Given the description of an element on the screen output the (x, y) to click on. 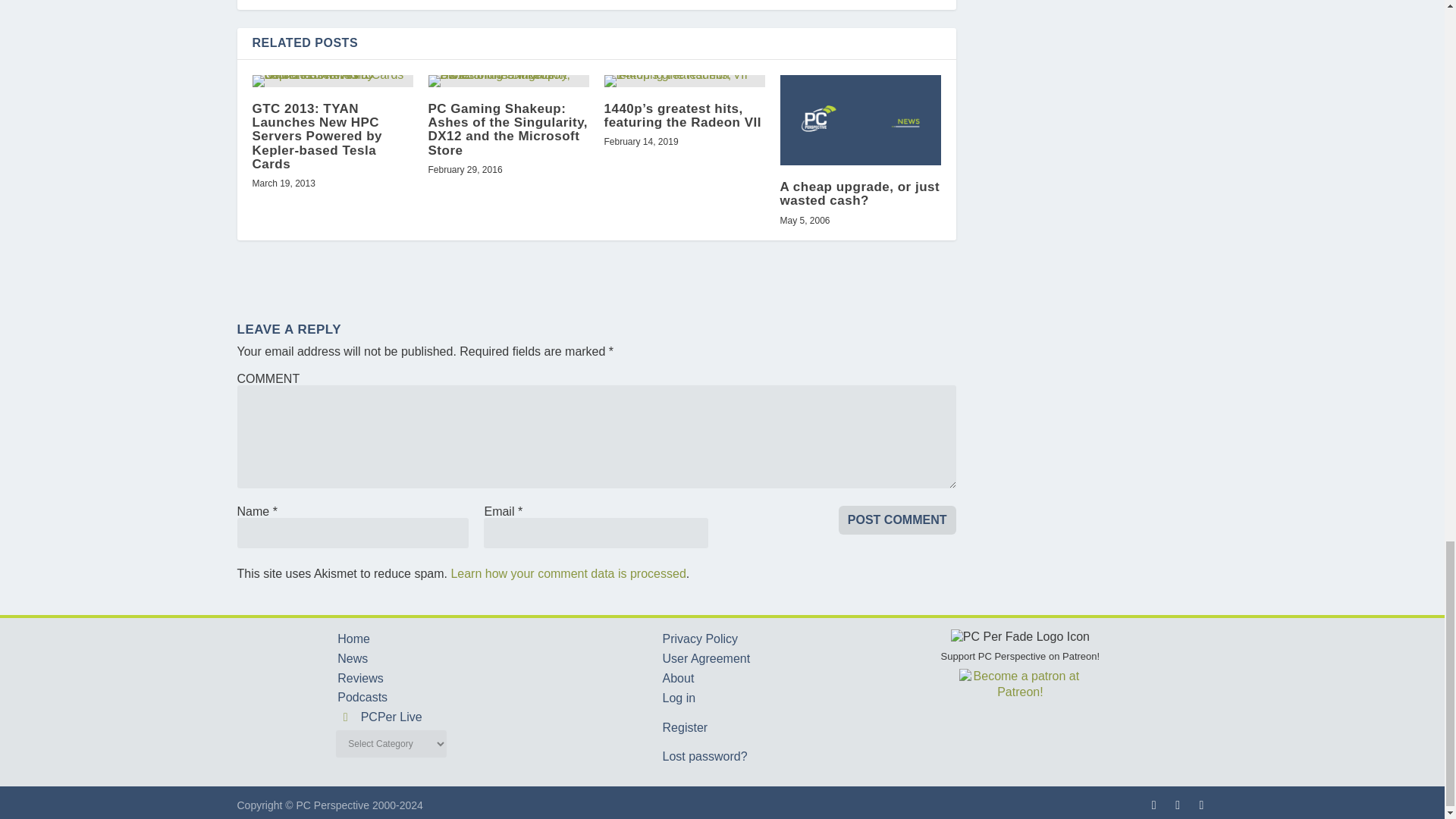
Support PC Perspective on Patreon! (1020, 664)
Post Comment (897, 520)
